Given the description of an element on the screen output the (x, y) to click on. 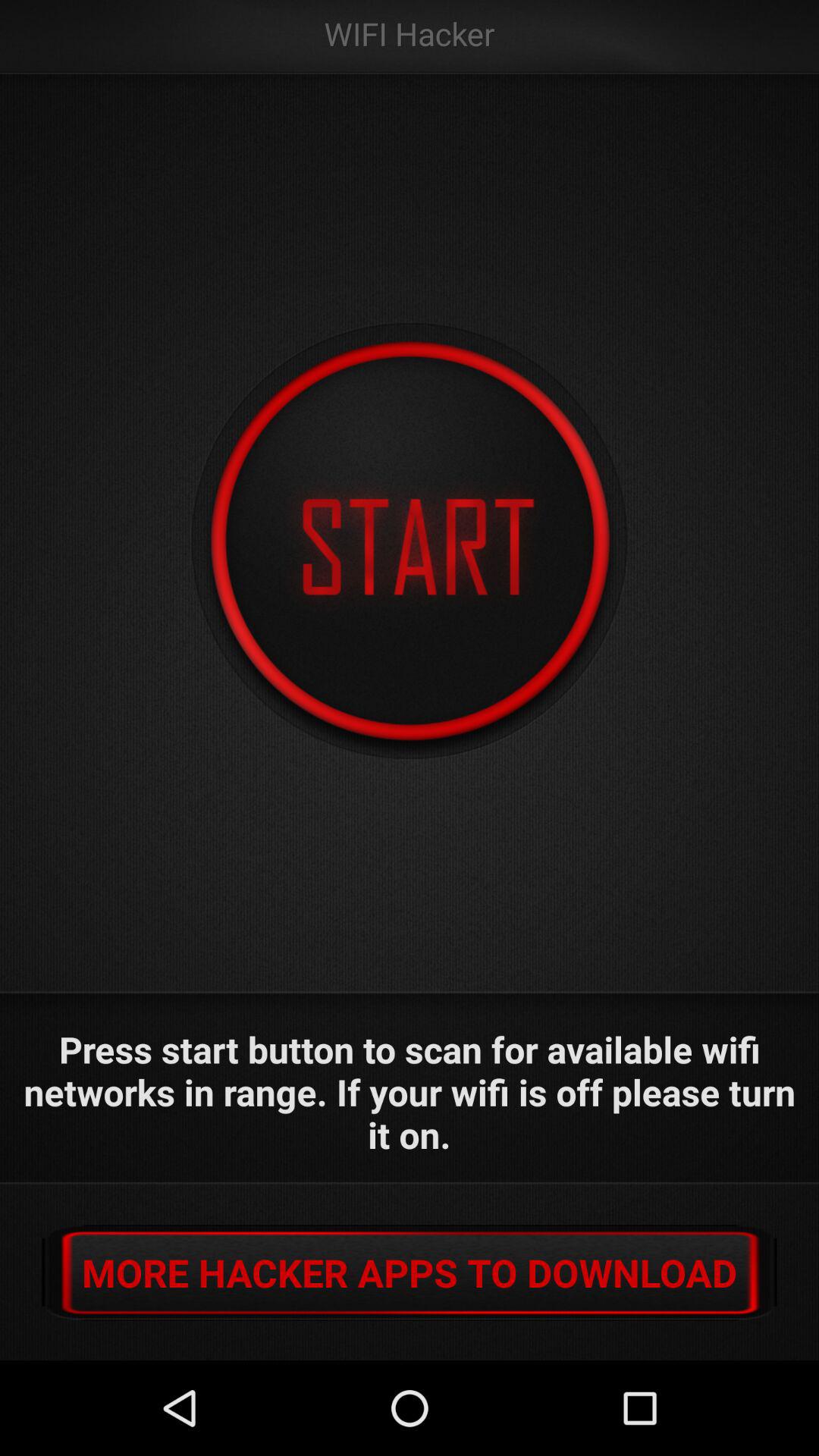
open more hacker apps button (409, 1272)
